Given the description of an element on the screen output the (x, y) to click on. 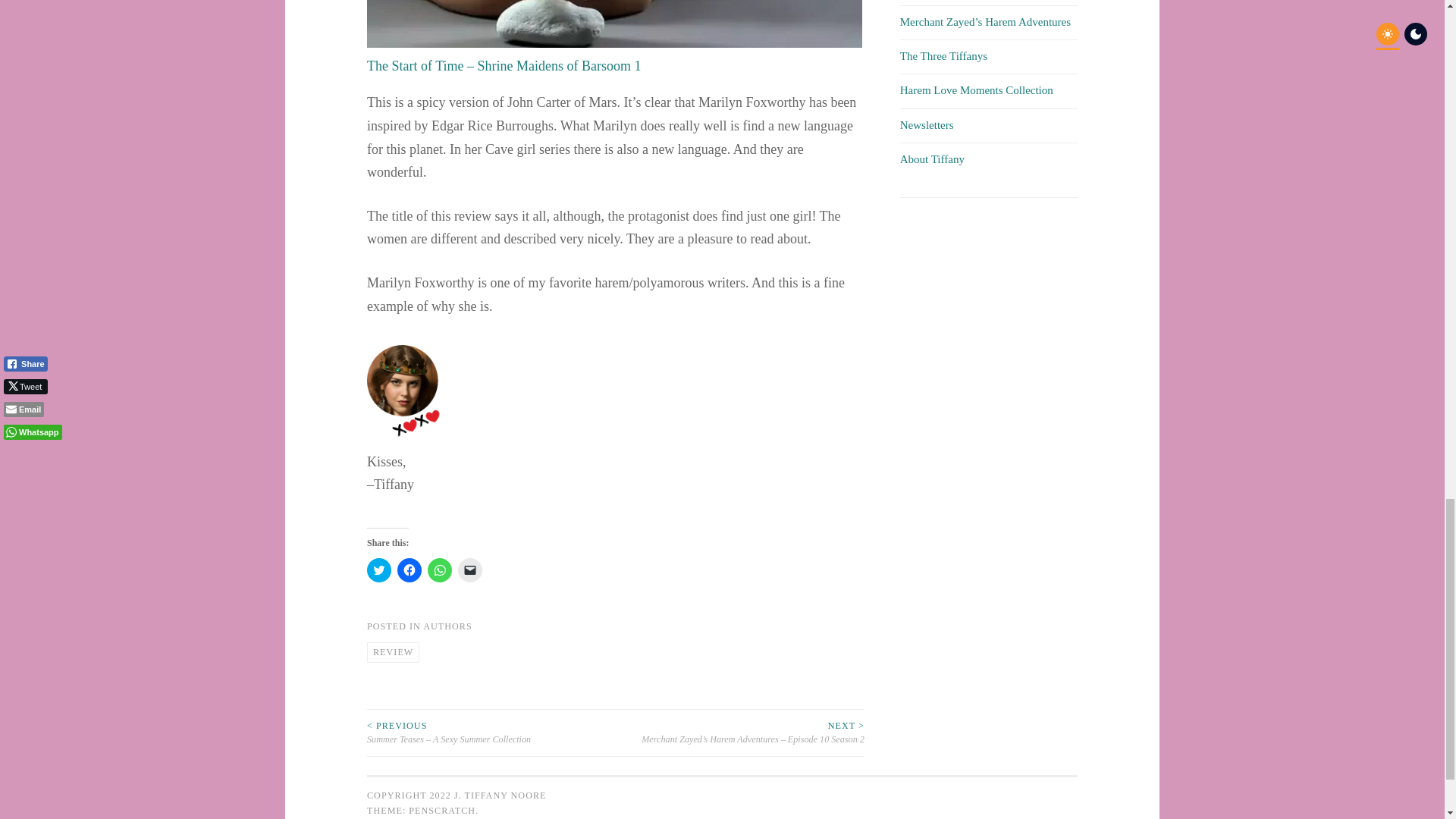
REVIEW (392, 652)
Harem Love Moments Collection (975, 90)
Click to email a link to a friend (469, 569)
AUTHORS (447, 625)
Click to share on WhatsApp (439, 569)
Click to share on Twitter (378, 569)
Click to share on Facebook (409, 569)
The Three Tiffanys (943, 55)
